Given the description of an element on the screen output the (x, y) to click on. 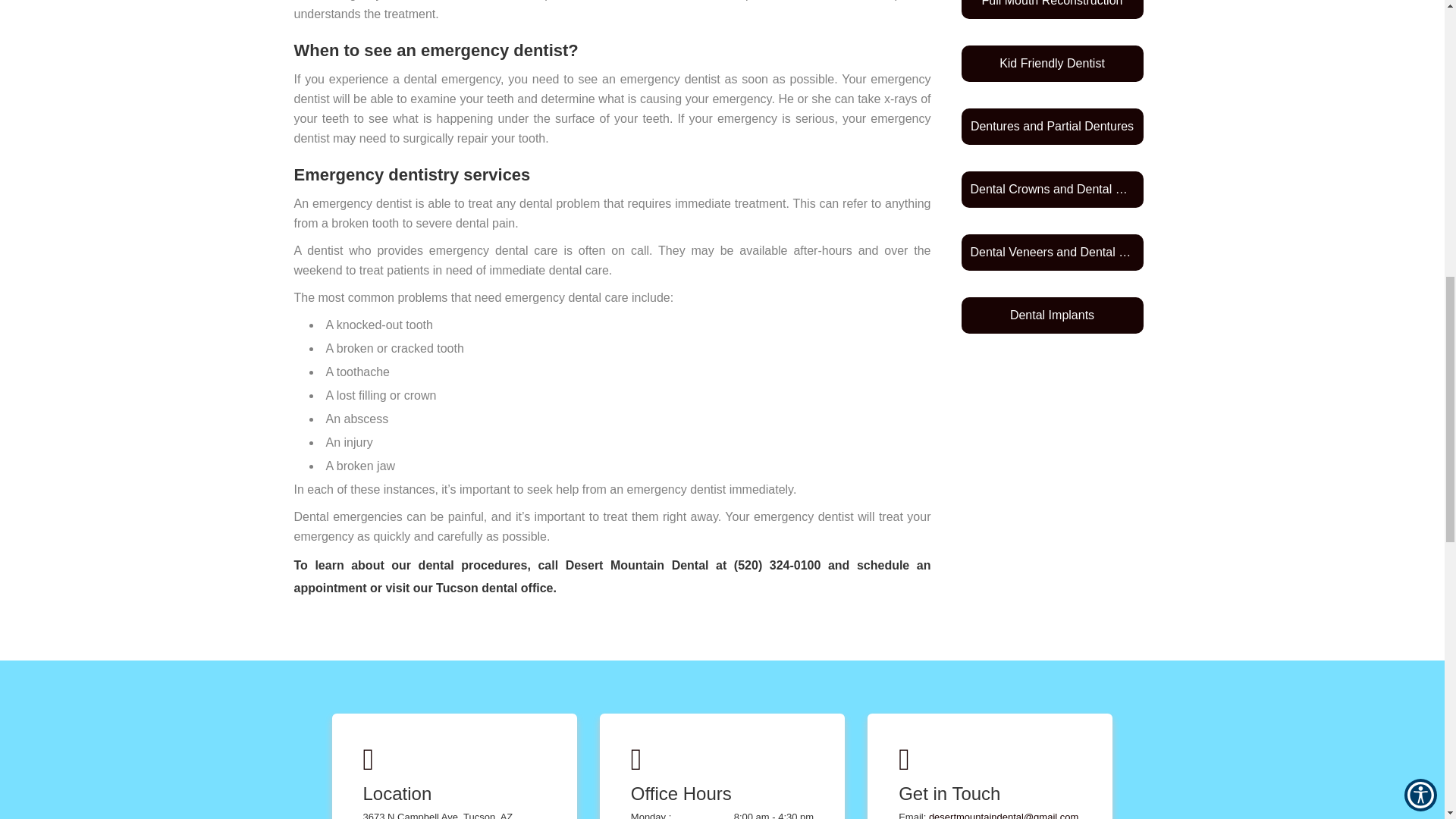
PATIENT EDUCATION (722, 206)
HOME (722, 87)
SERVICES (722, 166)
ABOUT (722, 127)
